Given the description of an element on the screen output the (x, y) to click on. 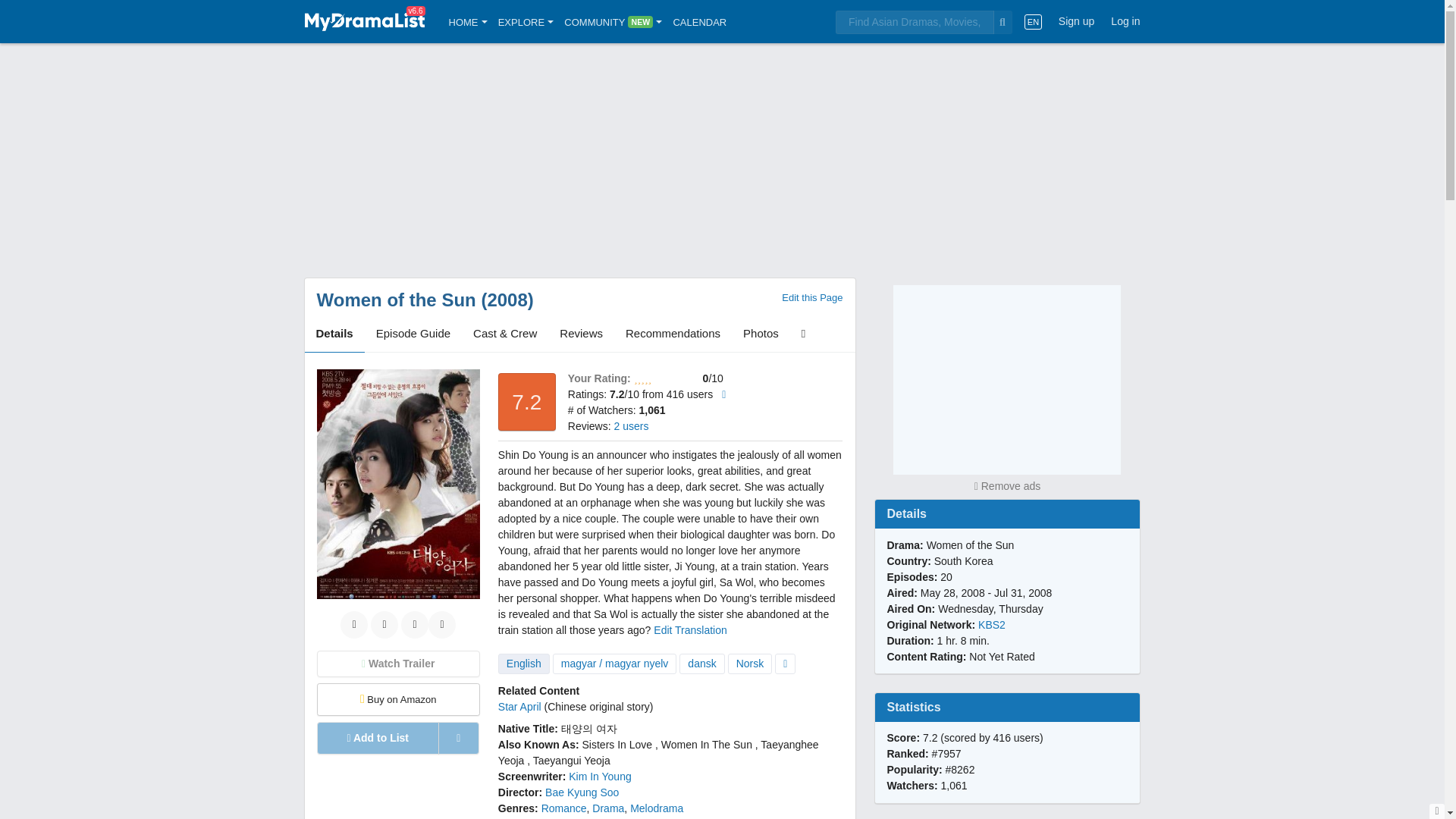
Taeyangui Yeoja (571, 760)
Star April (519, 706)
Taeyanghee Yeoja (657, 752)
Women In The Sun (706, 744)
Women of the Sun (396, 299)
Sisters In Love (617, 744)
HOME (467, 21)
v6.6 (364, 21)
